Given the description of an element on the screen output the (x, y) to click on. 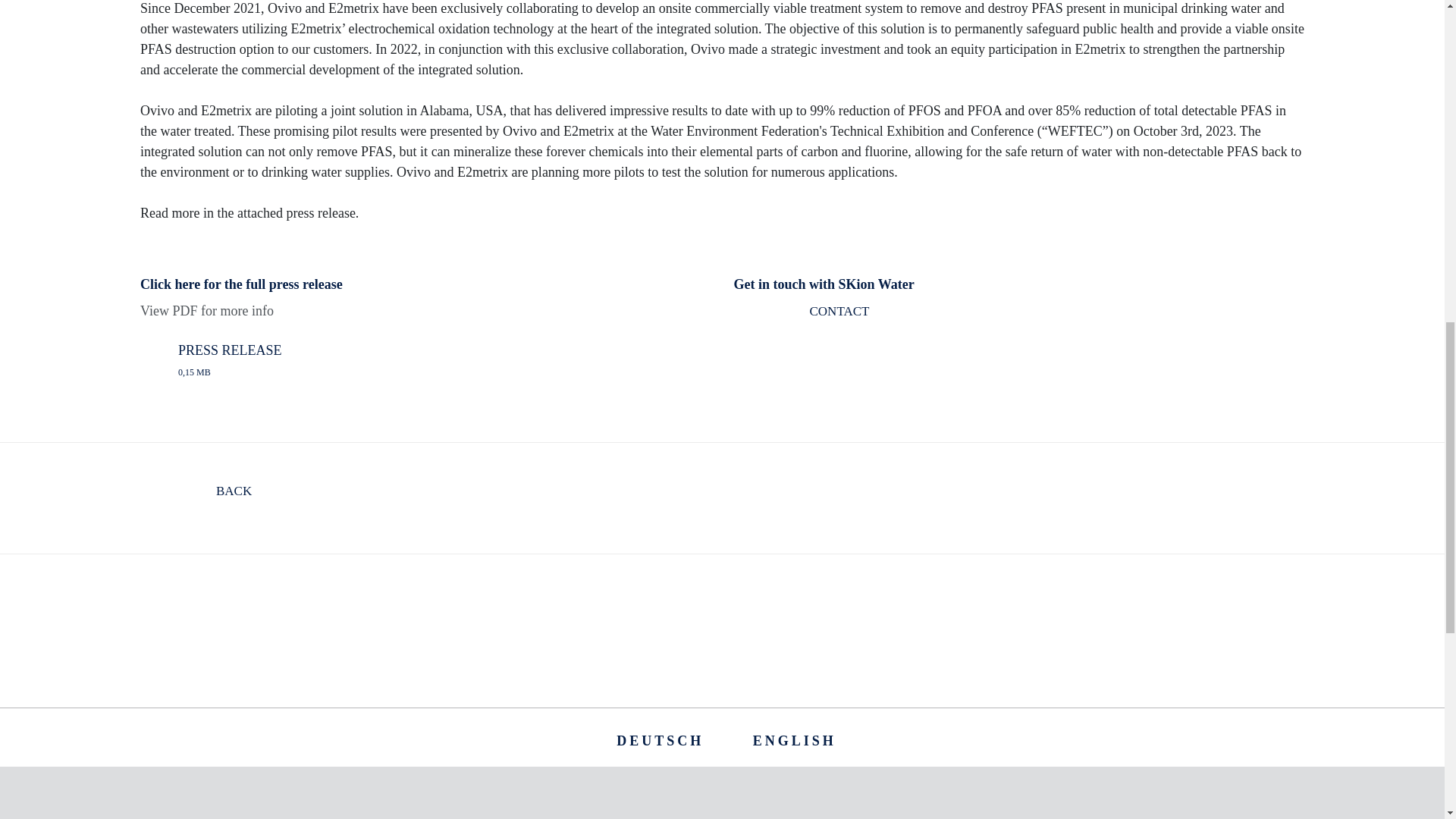
News Detail (659, 739)
DEUTSCH (659, 739)
Back (195, 497)
BACK (195, 497)
CONTACT (801, 318)
Contact (444, 359)
View PDF for more info (801, 318)
